Given the description of an element on the screen output the (x, y) to click on. 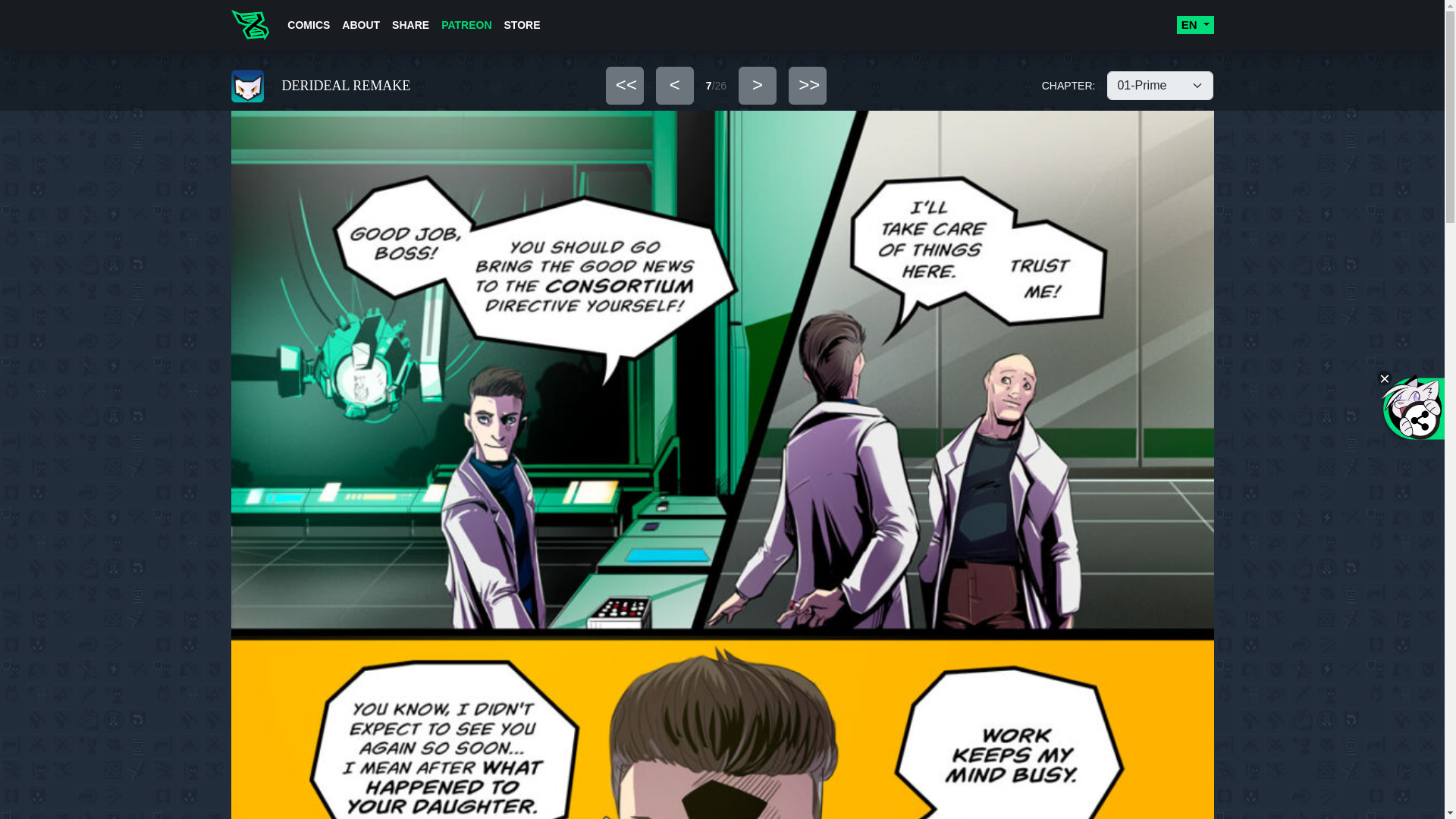
PATREON (466, 24)
COMICS (308, 24)
EN (1195, 25)
SHARE (410, 24)
STORE (521, 24)
DERIDEAL REMAKE (389, 85)
ABOUT (360, 24)
